Given the description of an element on the screen output the (x, y) to click on. 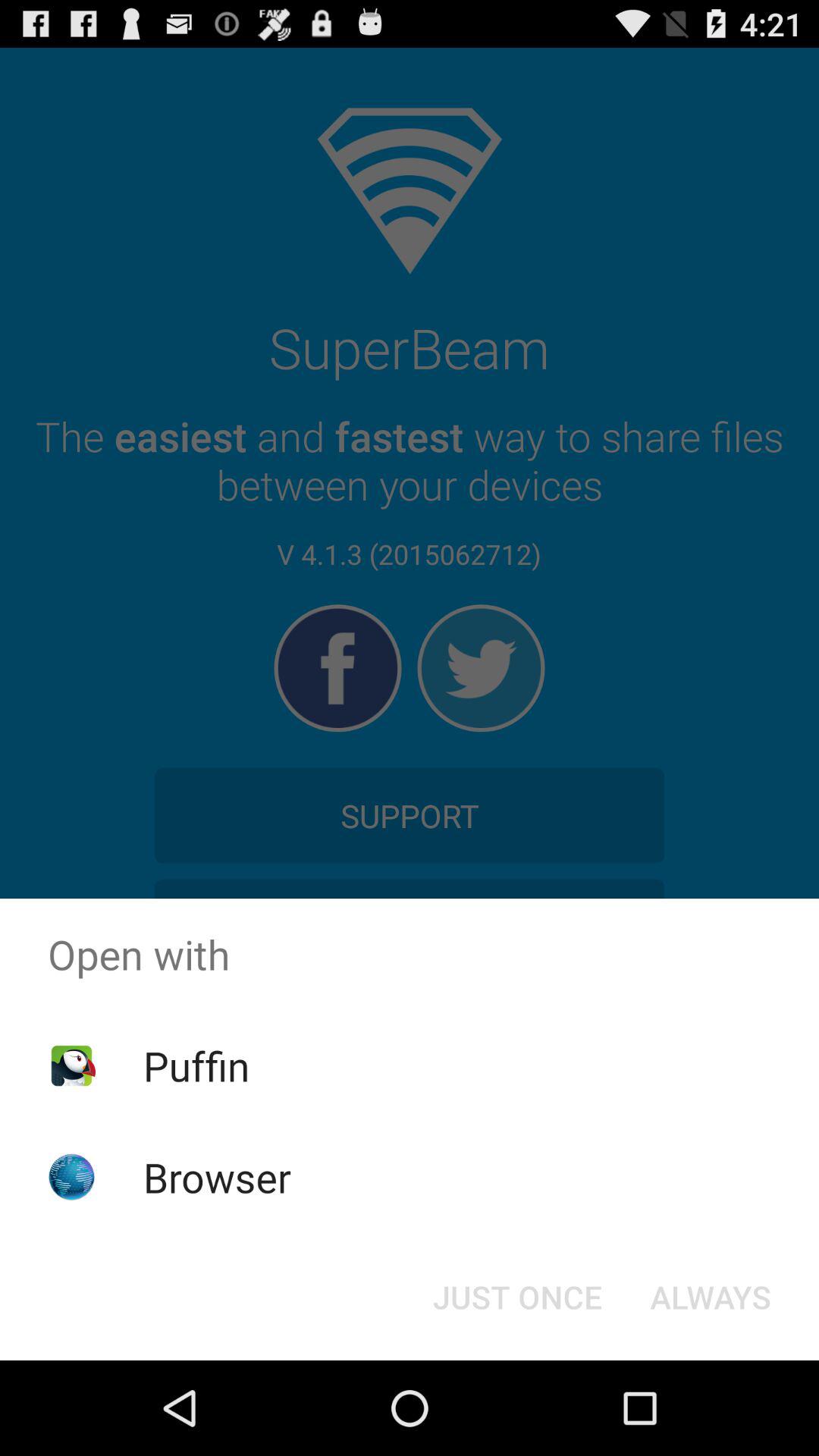
flip until puffin item (196, 1065)
